Given the description of an element on the screen output the (x, y) to click on. 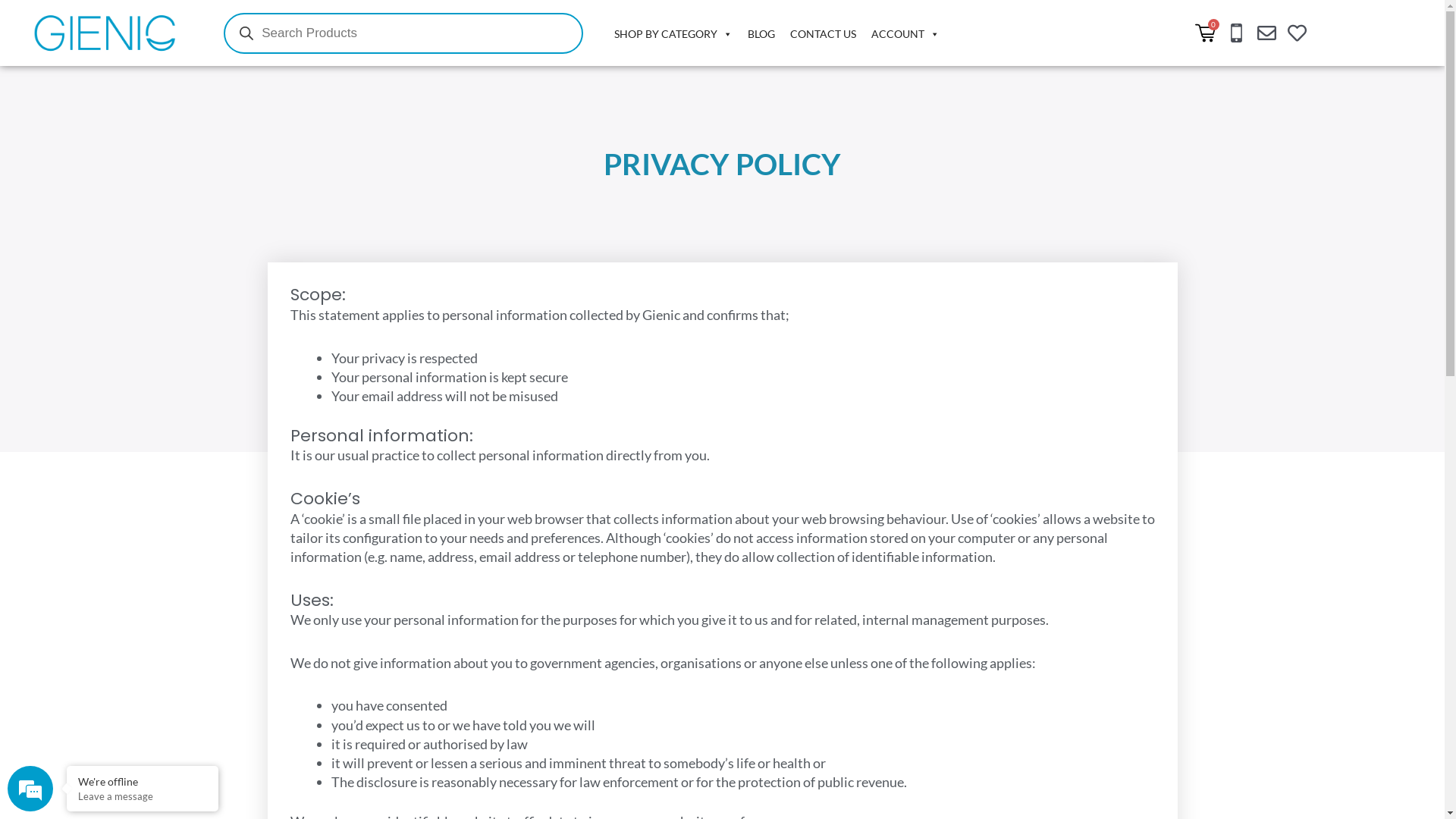
CONTACT US Element type: text (822, 33)
0 Element type: text (1205, 32)
SHOP BY CATEGORY Element type: text (673, 33)
ACCOUNT Element type: text (905, 33)
BLOG Element type: text (761, 33)
